Given the description of an element on the screen output the (x, y) to click on. 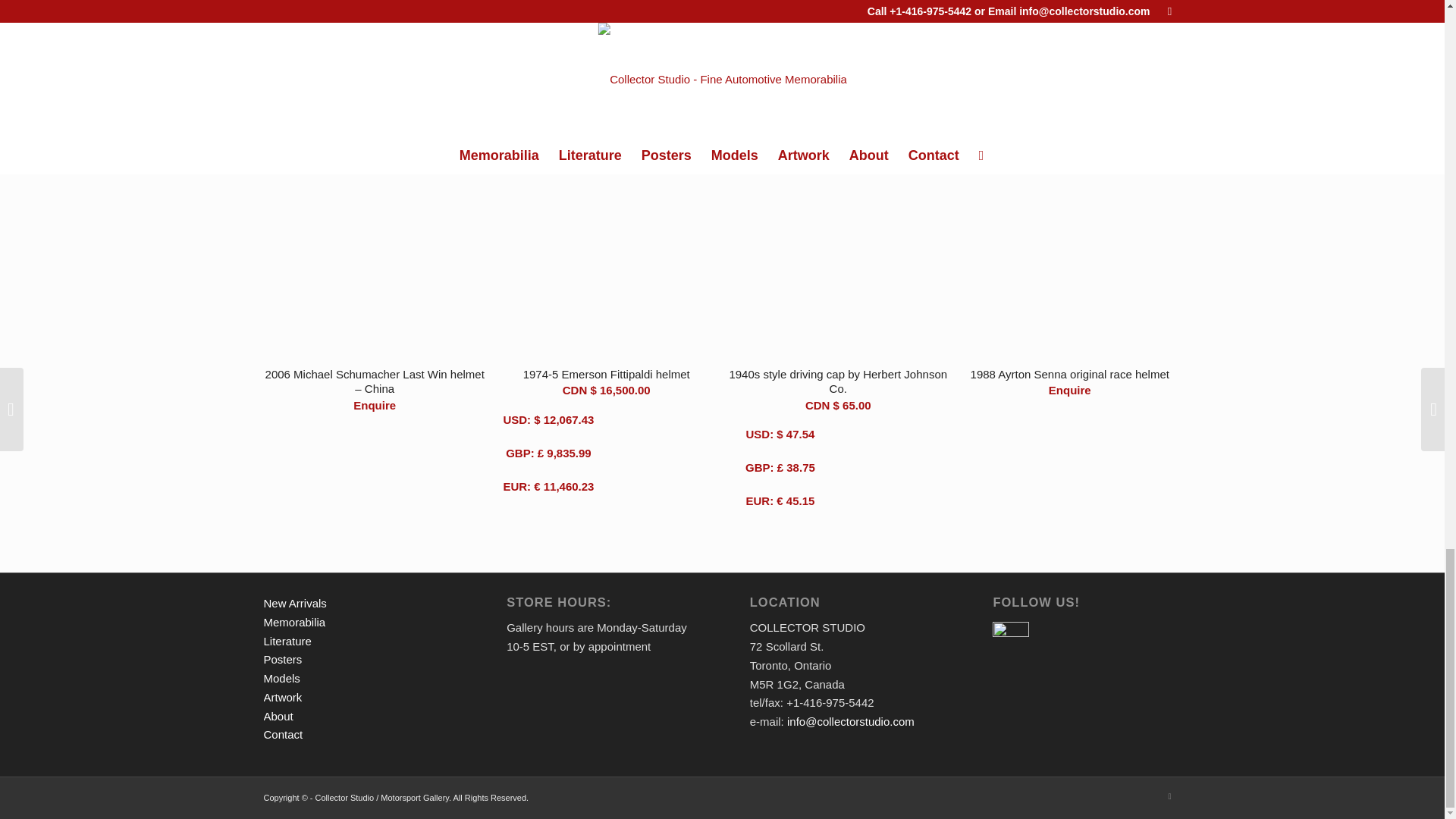
Instagram (1169, 795)
